Given the description of an element on the screen output the (x, y) to click on. 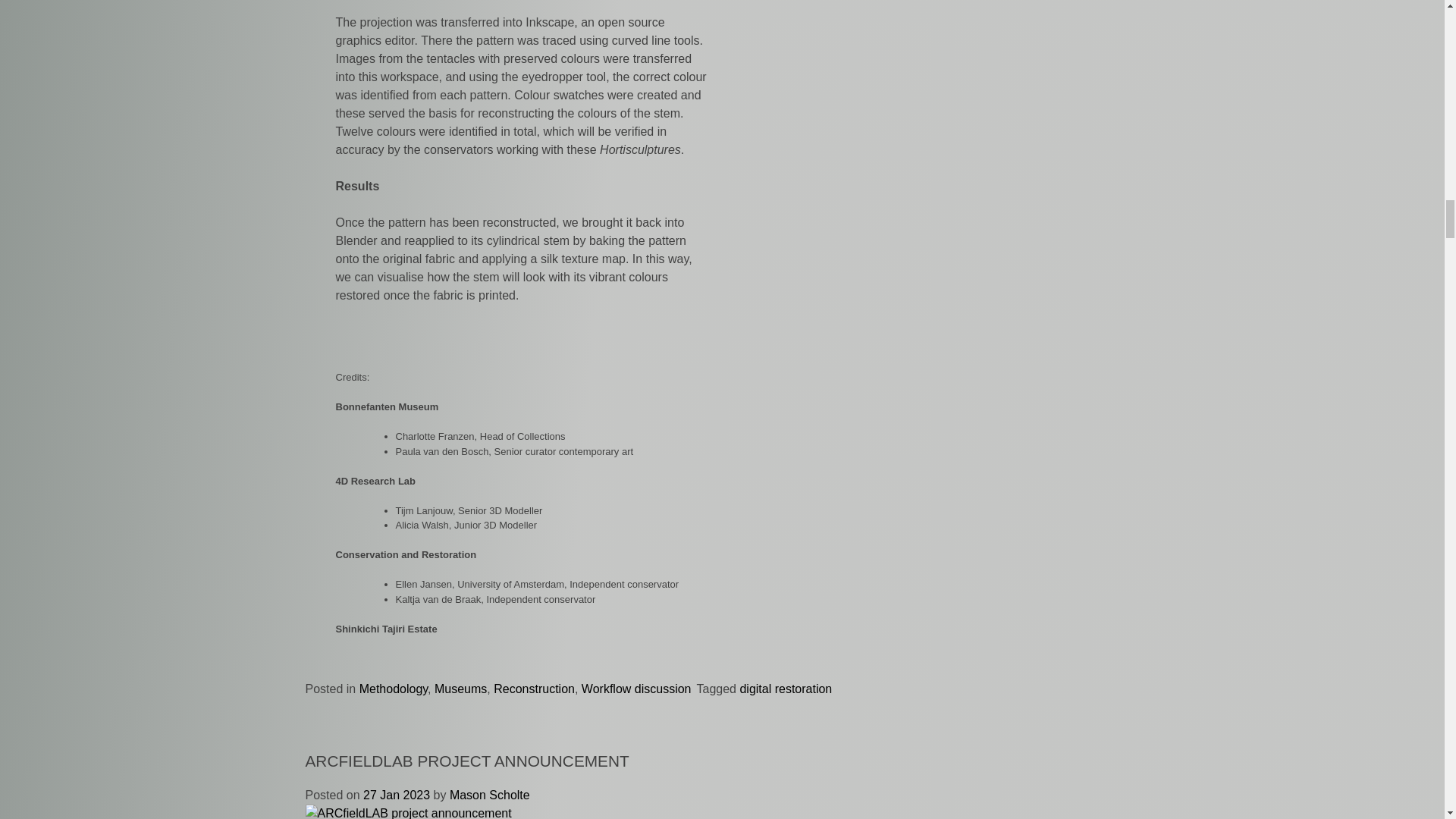
Methodology (393, 688)
Reconstruction (534, 688)
Museums (459, 688)
